Given the description of an element on the screen output the (x, y) to click on. 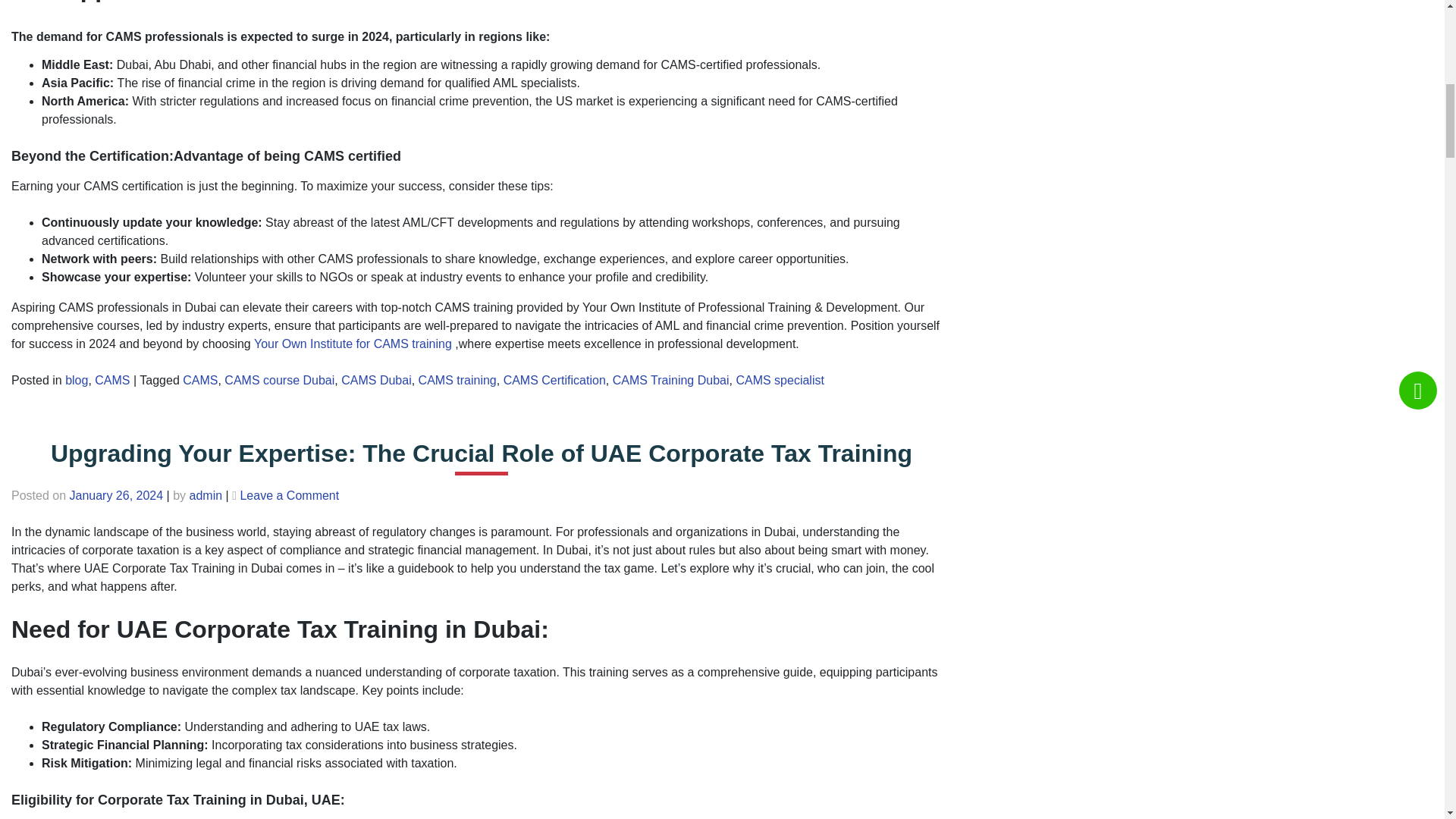
Your Own Institute for CAMS training (352, 343)
